Given the description of an element on the screen output the (x, y) to click on. 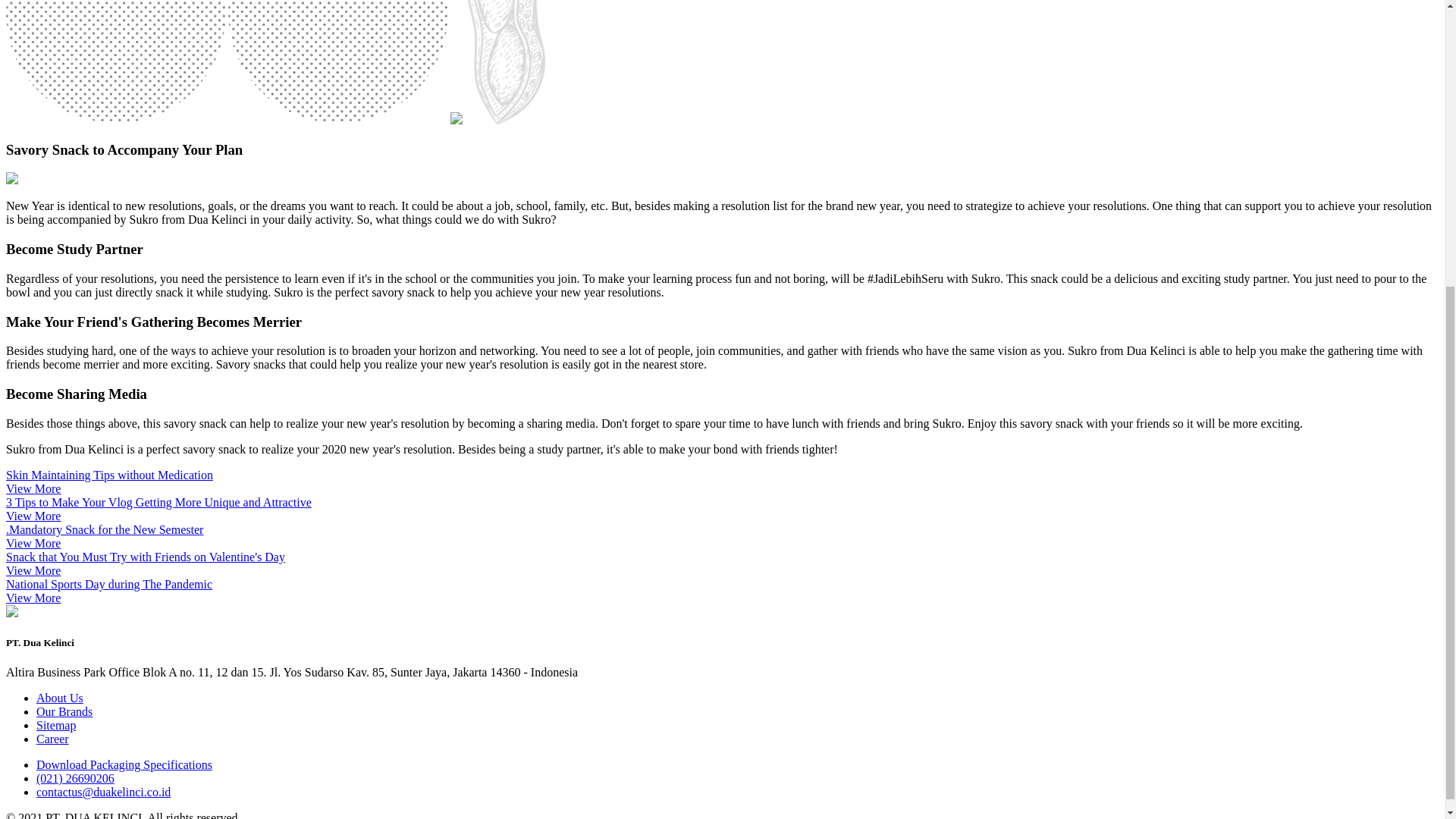
Snack that You Must Try with Friends on Valentine's Day (145, 556)
View More (33, 515)
3 Tips to Make Your Vlog Getting More Unique and Attractive (158, 502)
View More (33, 488)
Sitemap (55, 725)
About Us (59, 697)
View More (33, 597)
Download Packaging Specifications (124, 764)
View More (33, 570)
.Mandatory Snack for the New Semester (104, 529)
